Given the description of an element on the screen output the (x, y) to click on. 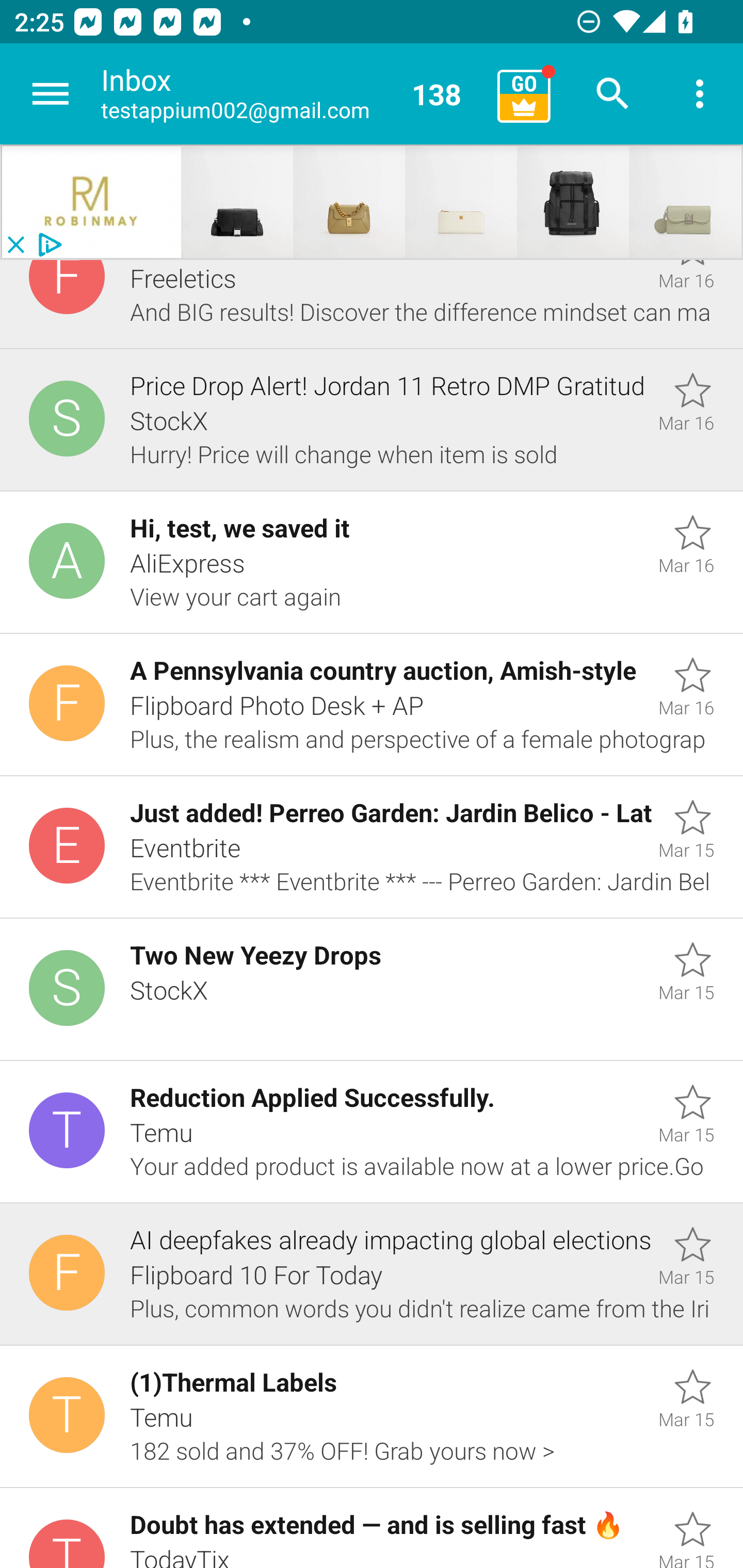
Navigate up (50, 93)
Inbox testappium002@gmail.com 138 (291, 93)
Search (612, 93)
More options (699, 93)
   (91, 202)
   (236, 202)
   (349, 202)
   (460, 202)
   (573, 202)
   (685, 202)
close_button (14, 245)
privacy_small (47, 245)
Unread, Two New Yeezy Drops, StockX, Mar 15 (371, 989)
